Given the description of an element on the screen output the (x, y) to click on. 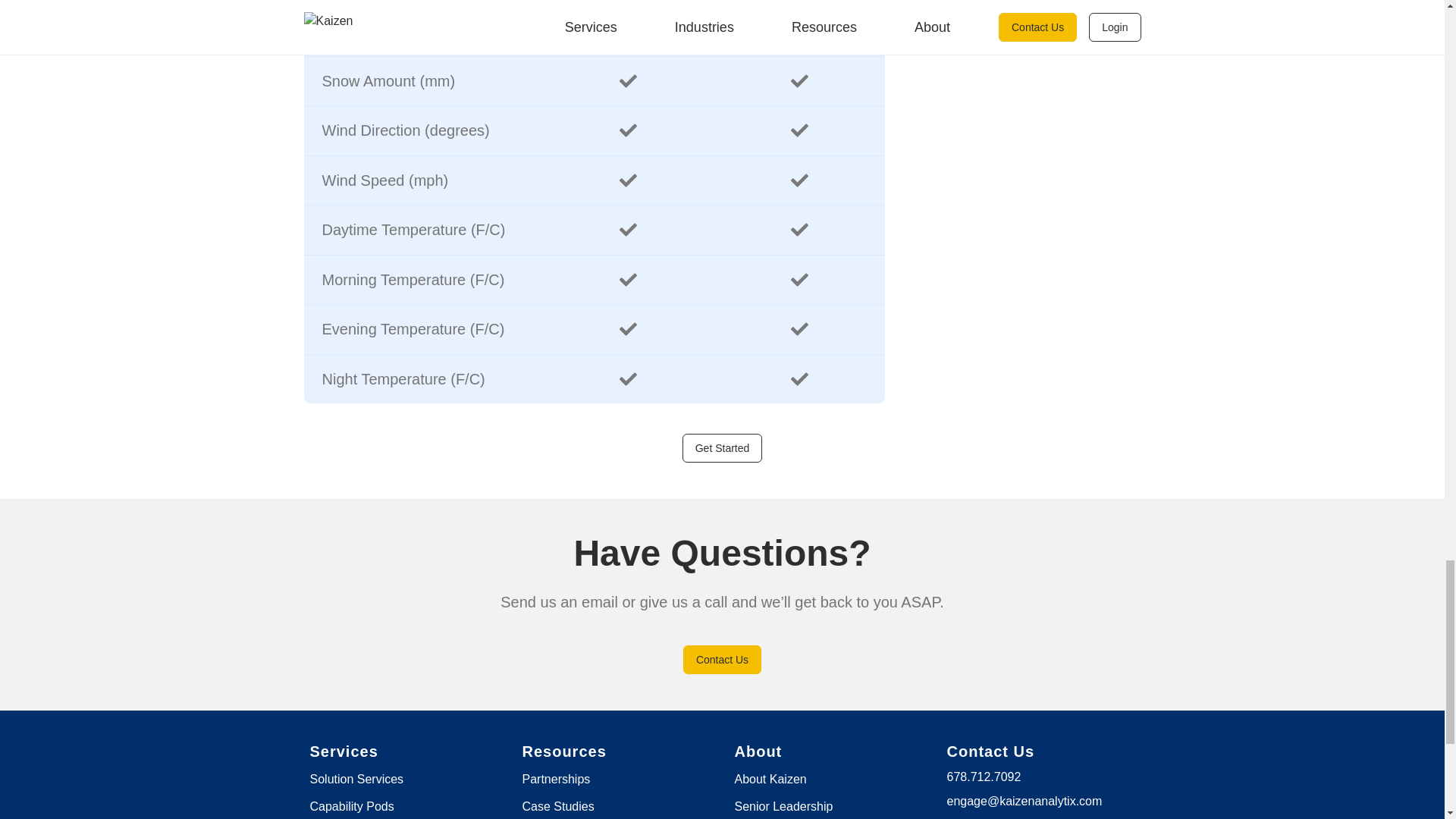
Case Studies (557, 805)
Get Started (722, 448)
Get Started (722, 447)
Partnerships (555, 778)
Capability Pods (350, 805)
About Kaizen (769, 778)
Contact Us (721, 658)
Solution Services (355, 778)
Contact Us (721, 658)
Senior Leadership (782, 805)
